Given the description of an element on the screen output the (x, y) to click on. 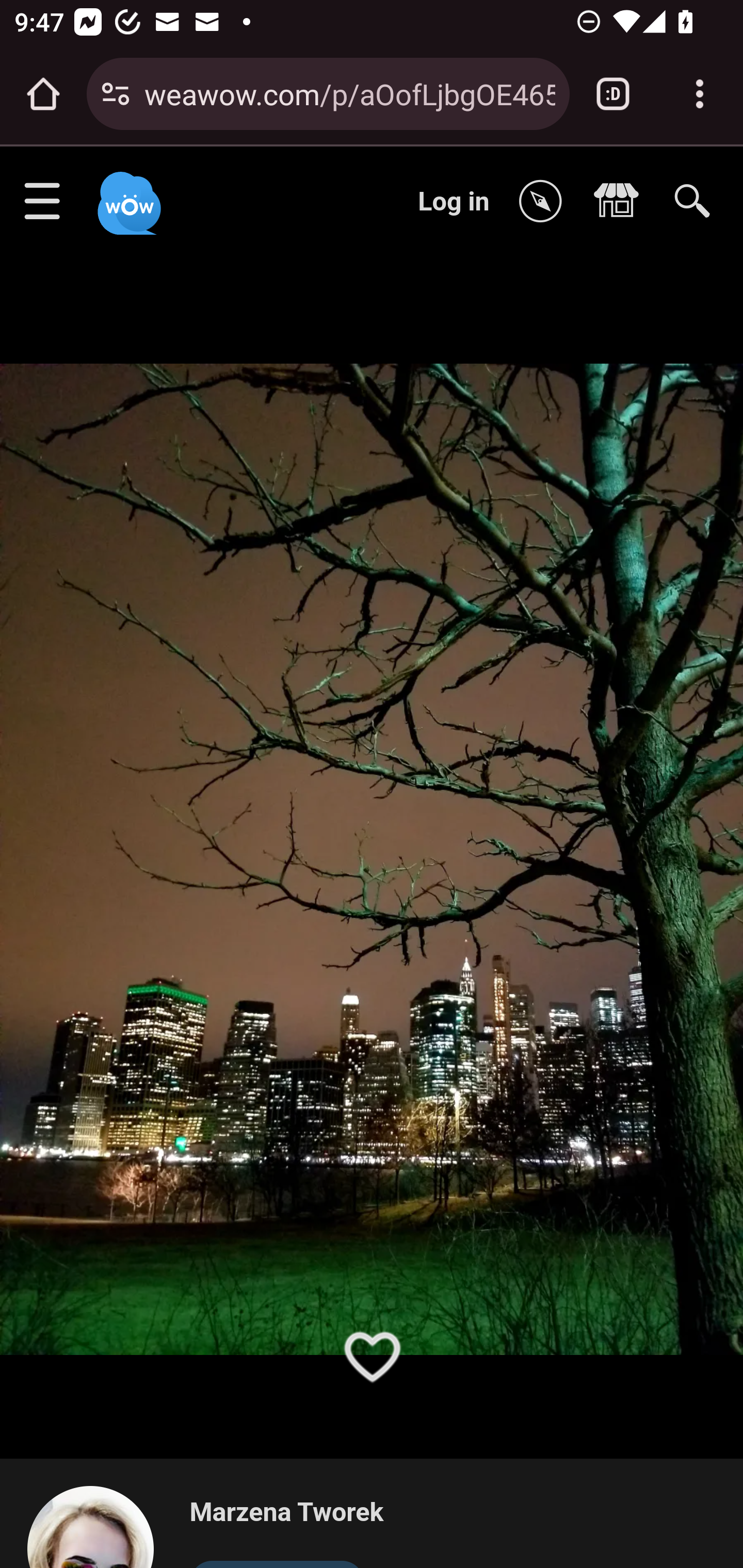
Open the home page (43, 93)
Connection is secure (115, 93)
Switch or close tabs (612, 93)
Customize and control Google Chrome (699, 93)
weawow.com/p/aOofLjbgOE46530 (349, 92)
Weawow (127, 194)
 (545, 201)
 (621, 201)
Log in (453, 201)
Marzena Tworek (285, 1513)
